Given the description of an element on the screen output the (x, y) to click on. 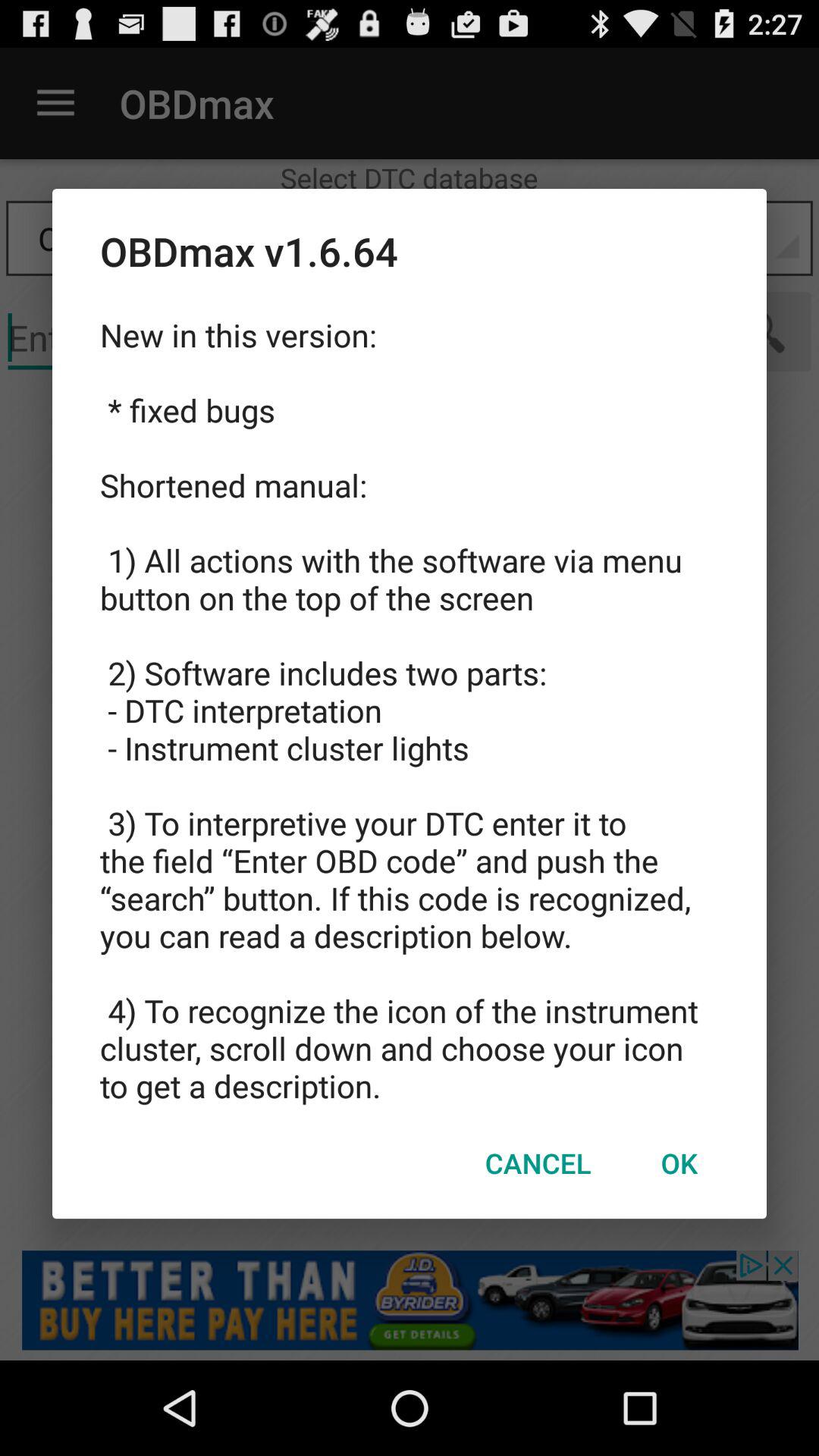
select the item below new in this icon (538, 1162)
